Given the description of an element on the screen output the (x, y) to click on. 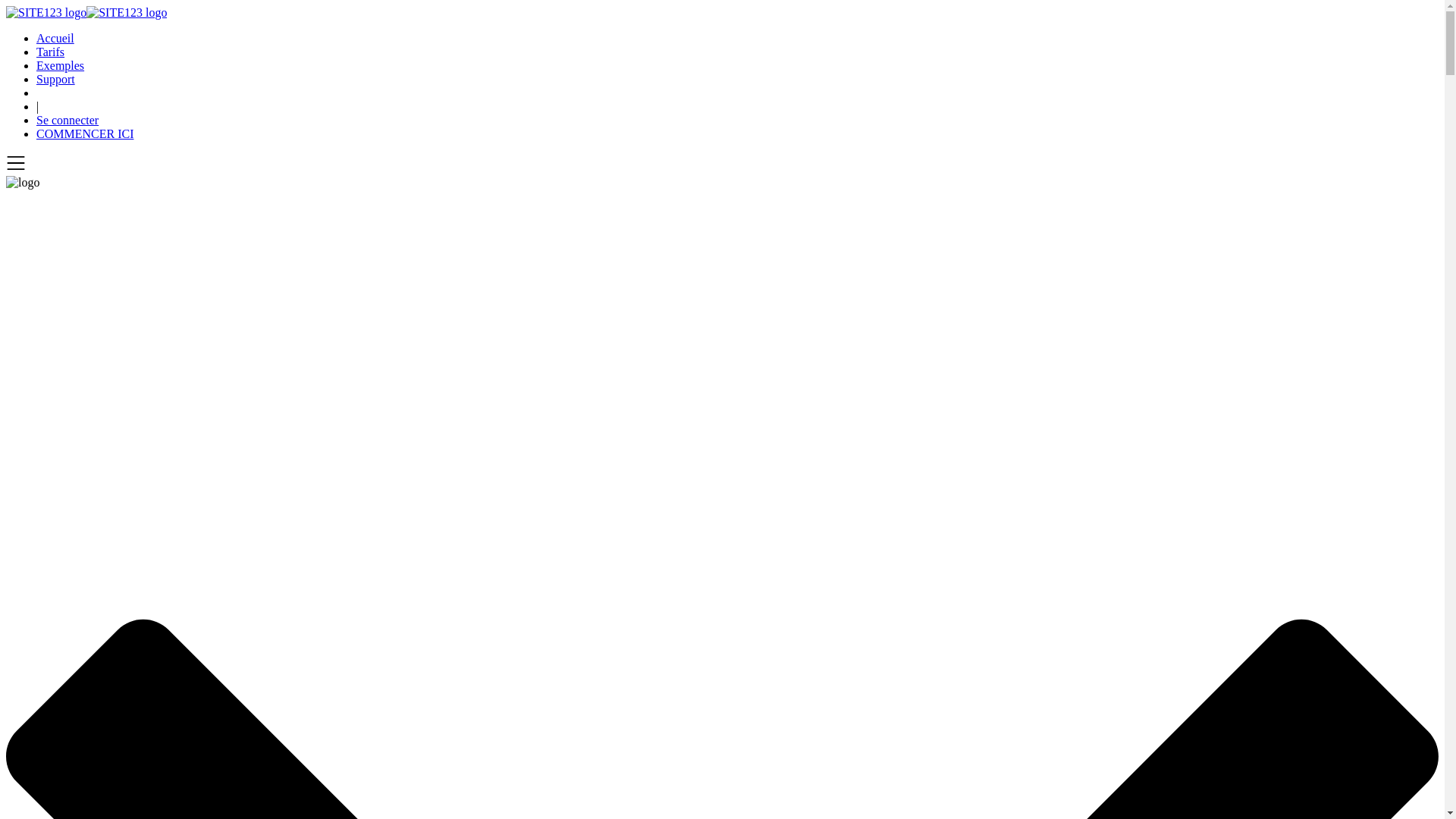
Exemples (60, 65)
Tarifs (50, 51)
Accueil (55, 38)
COMMENCER ICI (84, 133)
Support (55, 78)
Se connecter (67, 119)
